Given the description of an element on the screen output the (x, y) to click on. 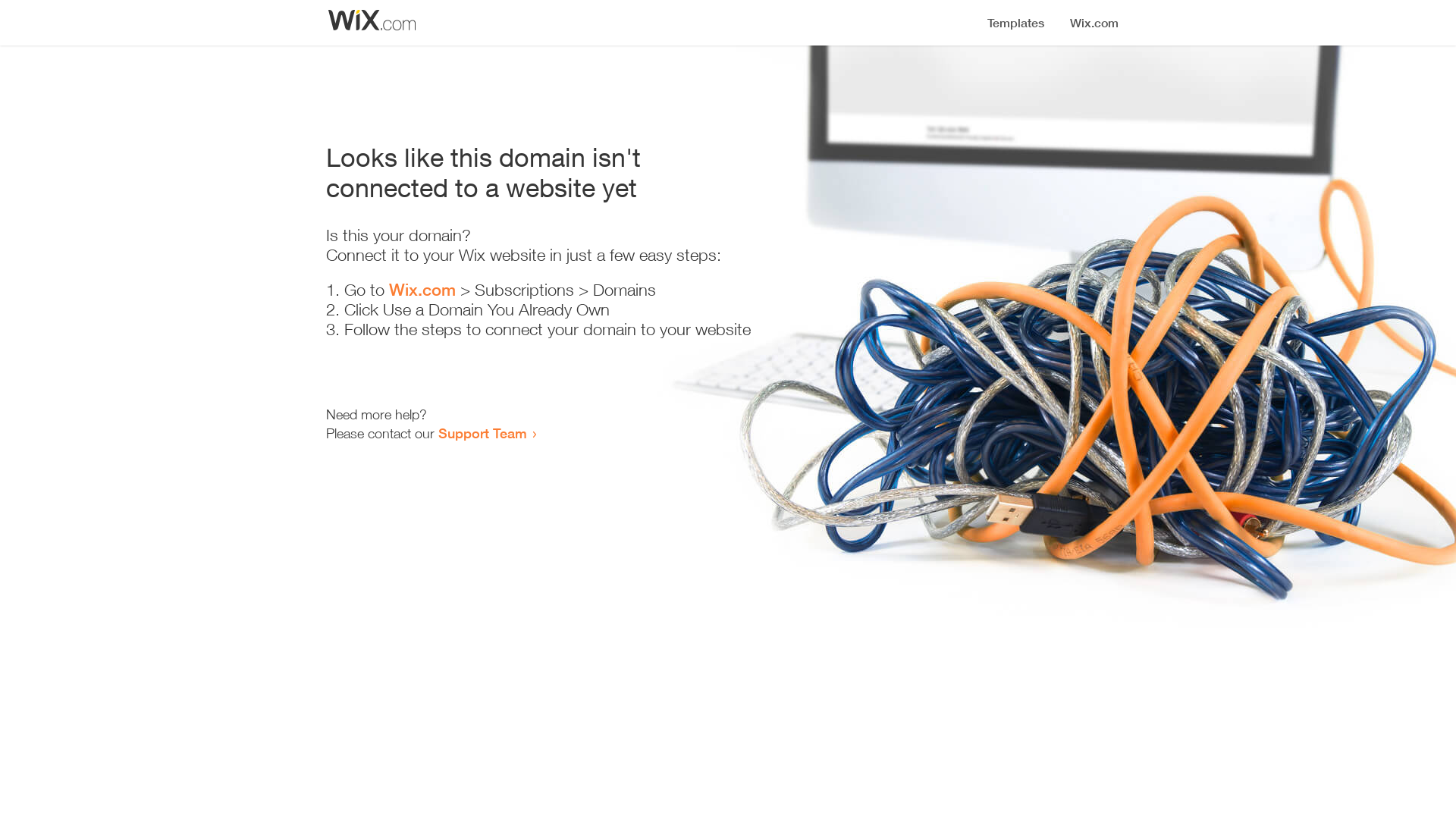
Support Team Element type: text (482, 432)
Wix.com Element type: text (422, 289)
